Given the description of an element on the screen output the (x, y) to click on. 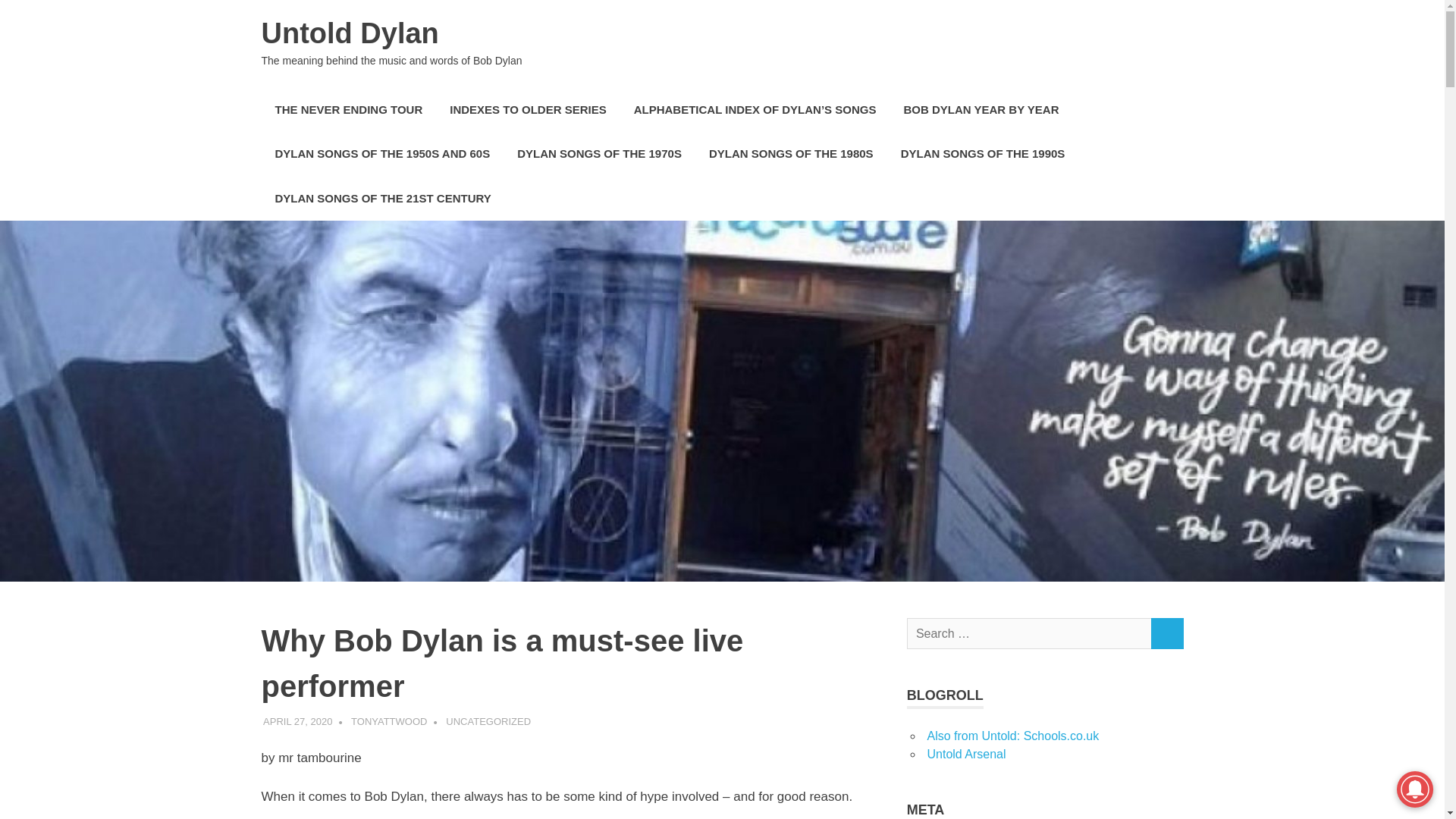
APRIL 27, 2020 (297, 721)
Untold Dylan (349, 33)
DYLAN SONGS OF THE 1950S AND 60S (381, 153)
2:23 pm (297, 721)
SEARCH (1166, 633)
From the same guys: our other hobby (966, 753)
DYLAN SONGS OF THE 1970S (599, 153)
Search for: (1029, 633)
DYLAN SONGS OF THE 21ST CENTURY (381, 198)
TONYATTWOOD (388, 721)
View all posts by TonyAttwood (388, 721)
DYLAN SONGS OF THE 1990S (982, 153)
Also from Untold: Schools.co.uk (1012, 735)
THE NEVER ENDING TOUR (347, 109)
Untold Arsenal (966, 753)
